Given the description of an element on the screen output the (x, y) to click on. 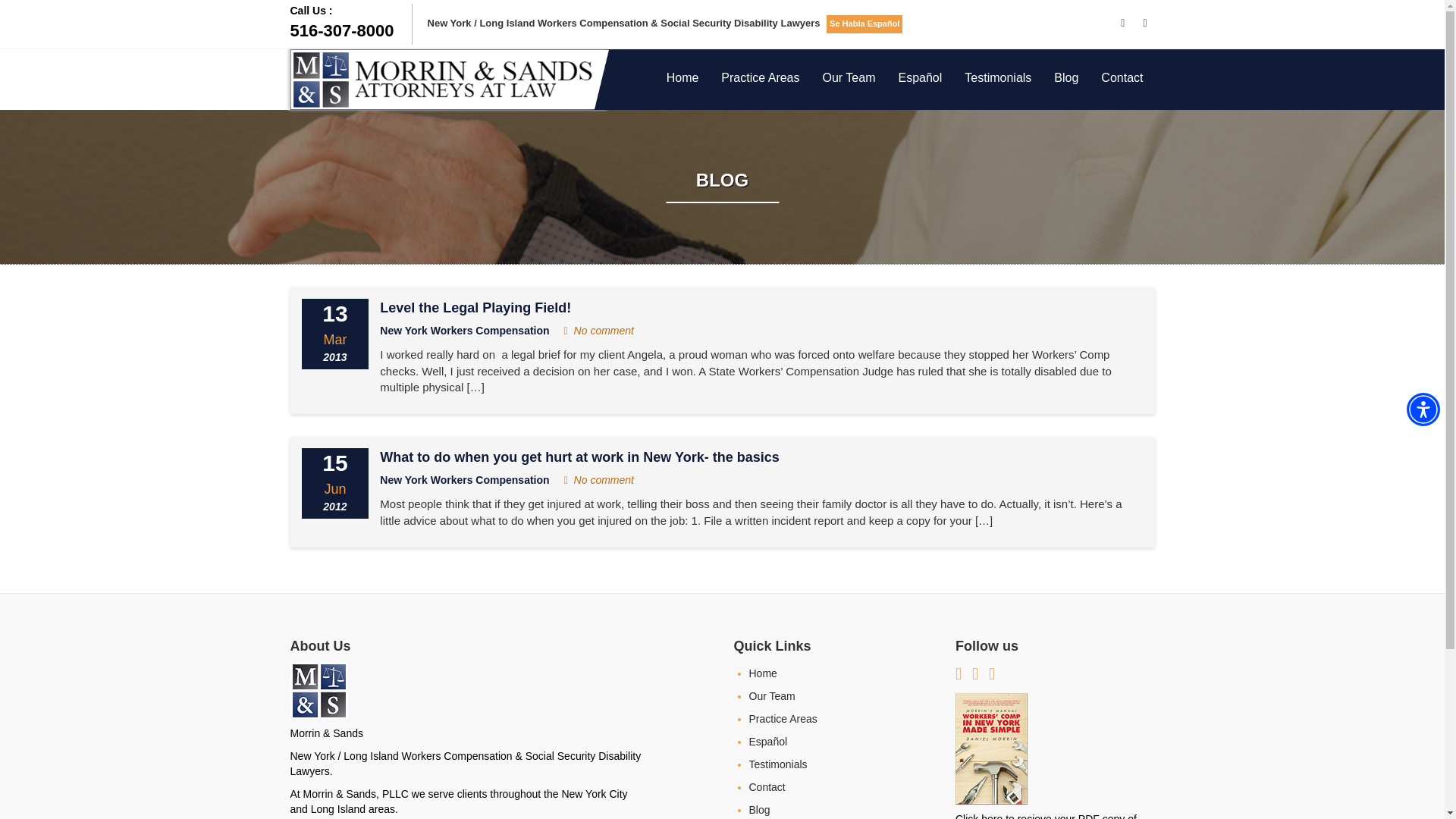
Home (682, 77)
Practice Areas (760, 77)
Our Team (848, 77)
Accessibility Menu (349, 23)
